Given the description of an element on the screen output the (x, y) to click on. 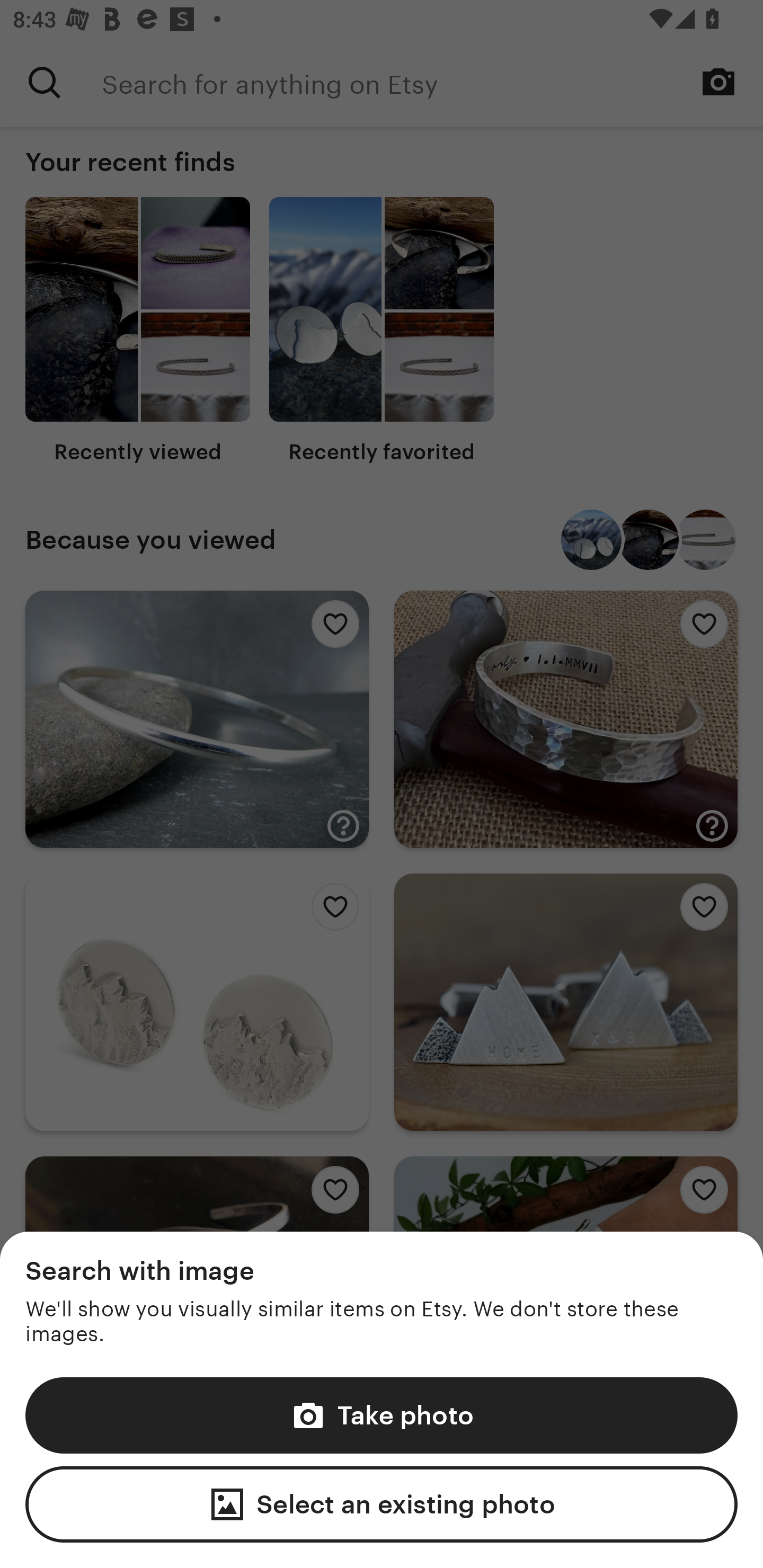
Take photo (381, 1414)
Select an existing photo (381, 1504)
